Given the description of an element on the screen output the (x, y) to click on. 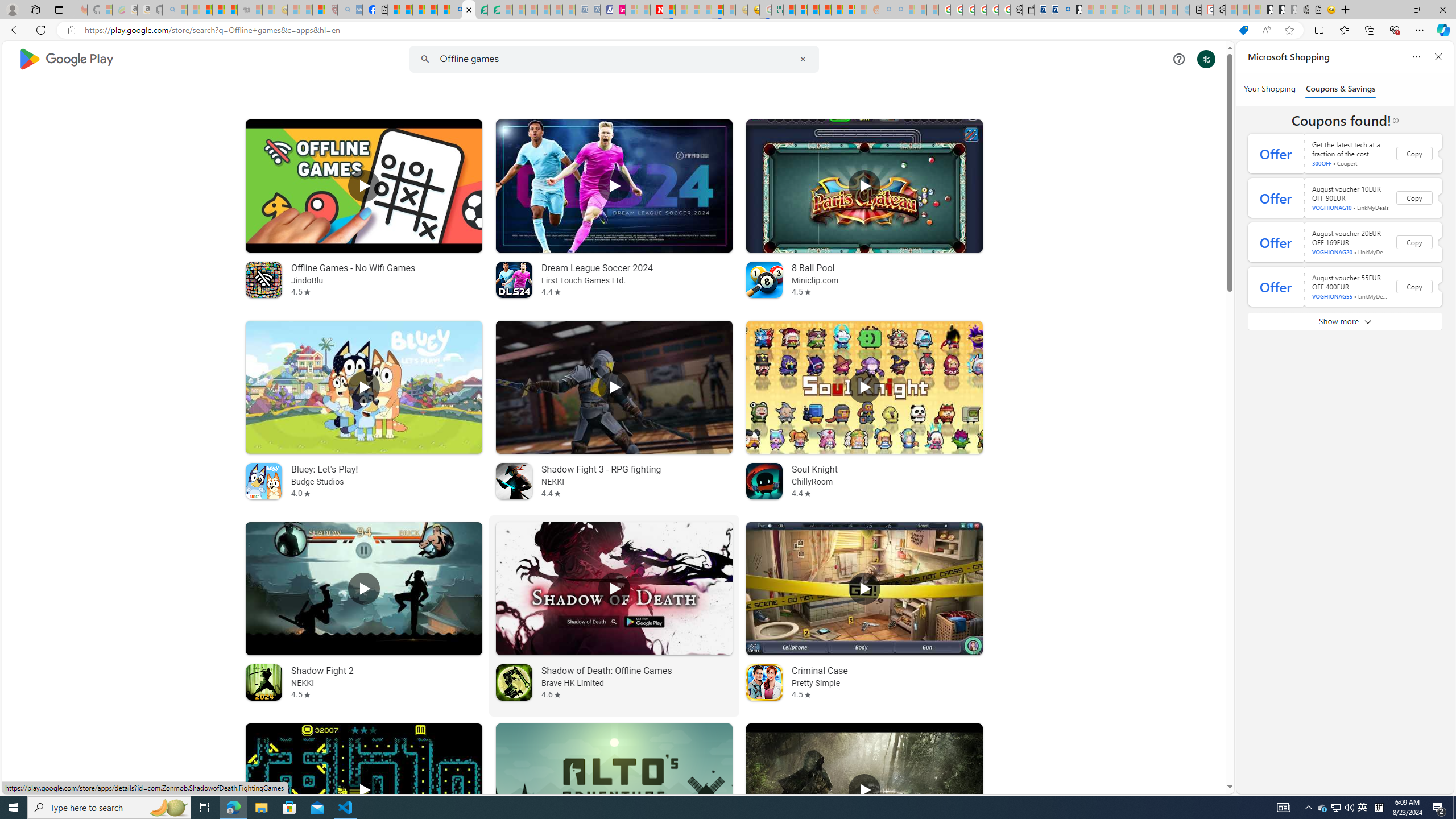
Settings (1219, 9)
Class: hQnXo (613, 58)
Play Offline Games - No Wifi Games (363, 185)
Home | Sky Blue Bikes - Sky Blue Bikes - Sleeping (1182, 9)
The Weather Channel - MSN (205, 9)
Play Tomb of the Mask (363, 789)
Browser essentials (1394, 29)
Microsoft-Report a Concern to Bing - Sleeping (105, 9)
